Given the description of an element on the screen output the (x, y) to click on. 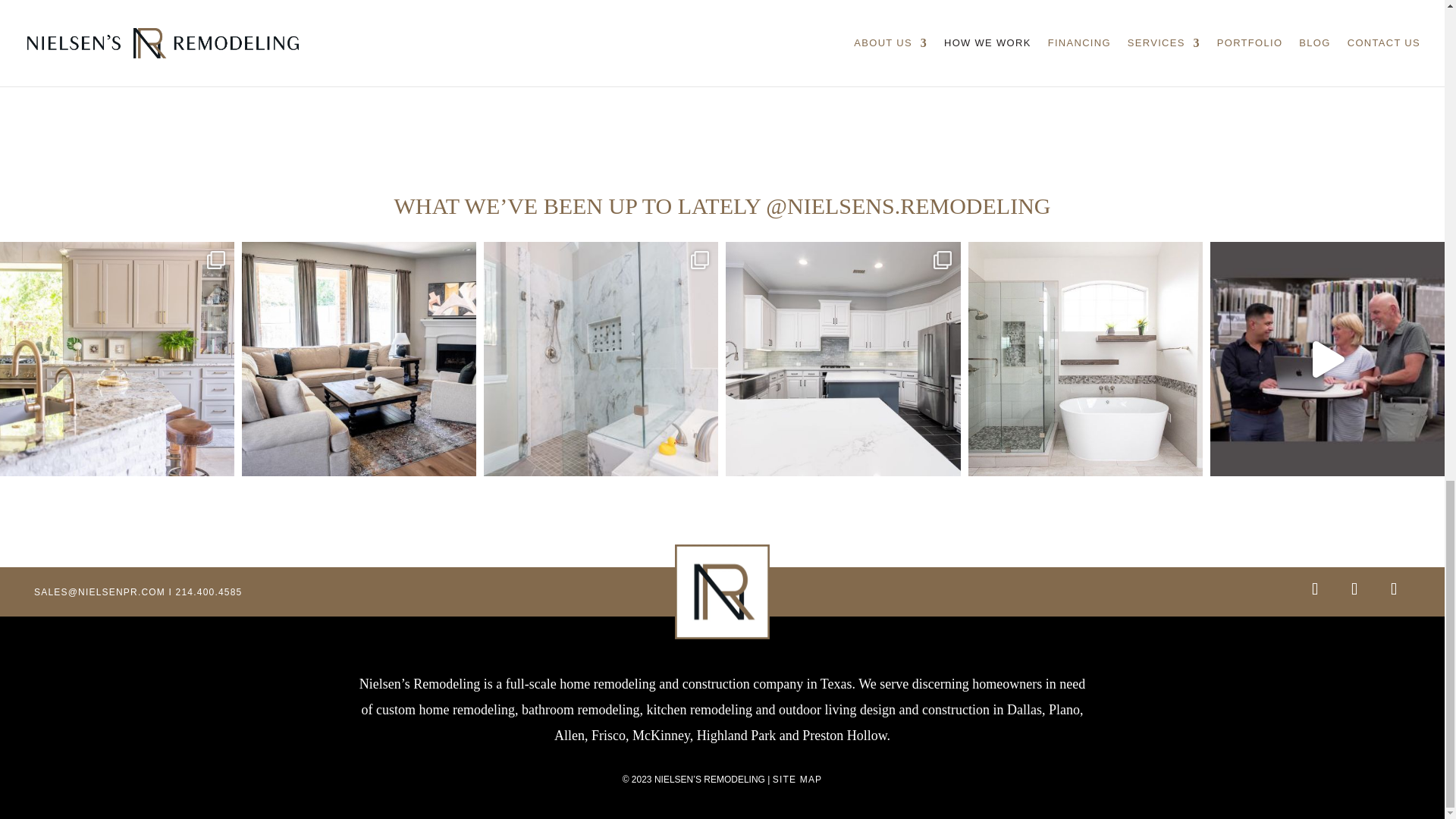
SCHEDULE YOUR CONSULTATION (721, 58)
Follow on Facebook (1393, 589)
SITE MAP (797, 778)
Follow on X (1354, 589)
Follow on Instagram (1315, 589)
Nielsen Remodeling (722, 591)
